Given the description of an element on the screen output the (x, y) to click on. 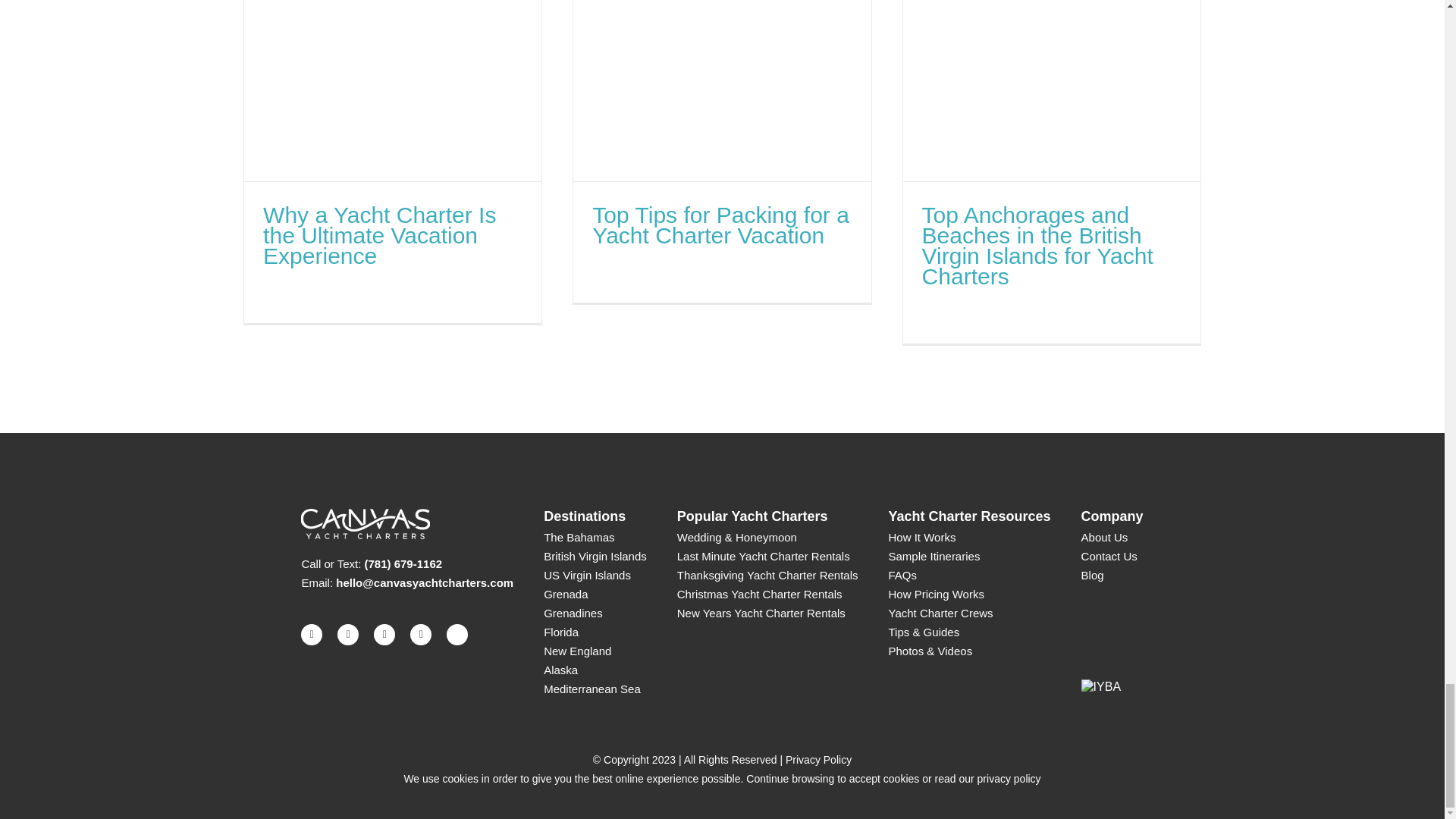
Why a Yacht Charter Is the Ultimate Vacation Experience (379, 235)
International Yacht Brokers Association (1101, 686)
Top Tips for Packing for a Yacht Charter Vacation (720, 225)
